Given the description of an element on the screen output the (x, y) to click on. 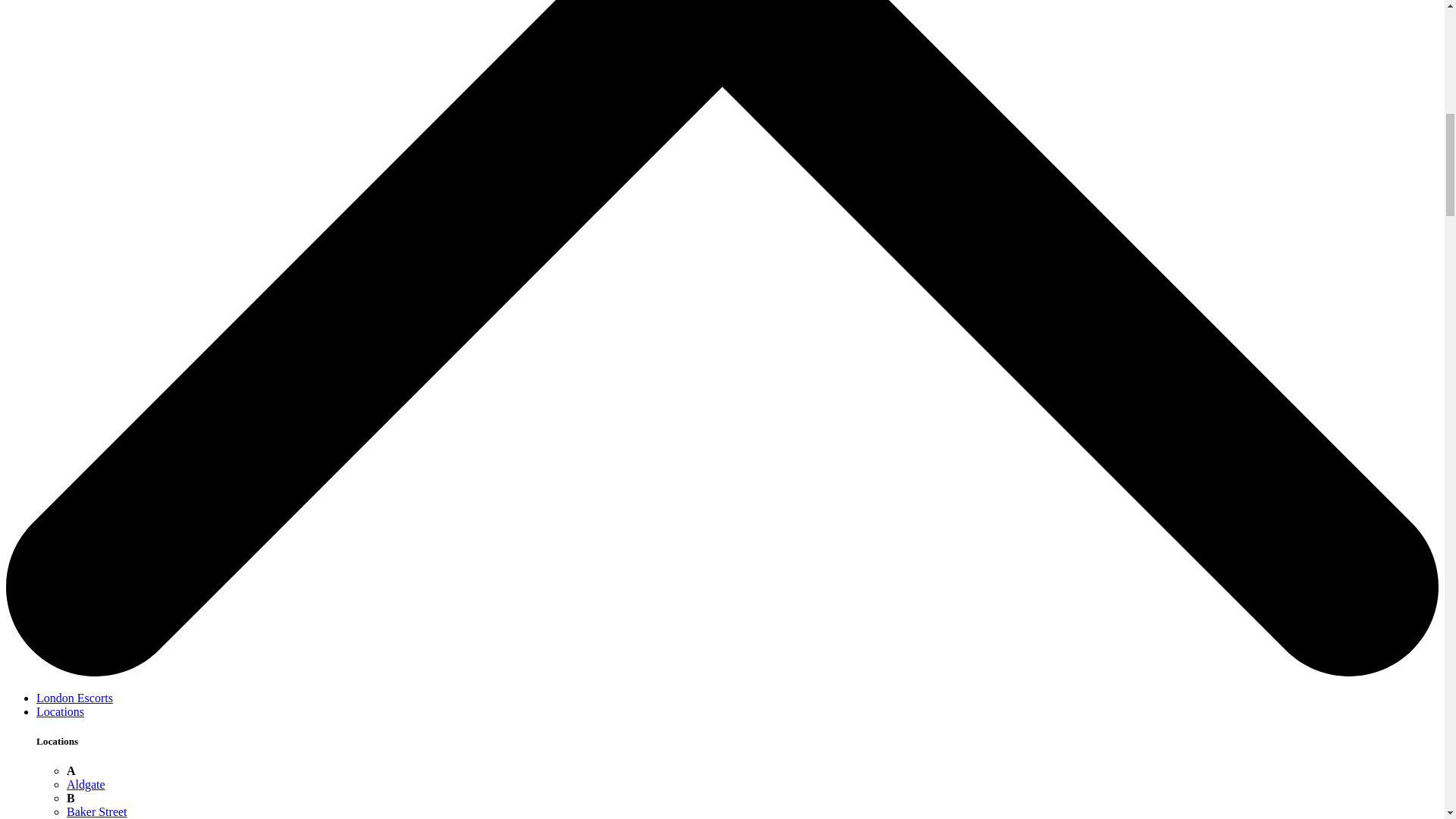
London Escorts (74, 697)
Baker Street (97, 811)
Locations (60, 711)
Aldgate (85, 784)
